Given the description of an element on the screen output the (x, y) to click on. 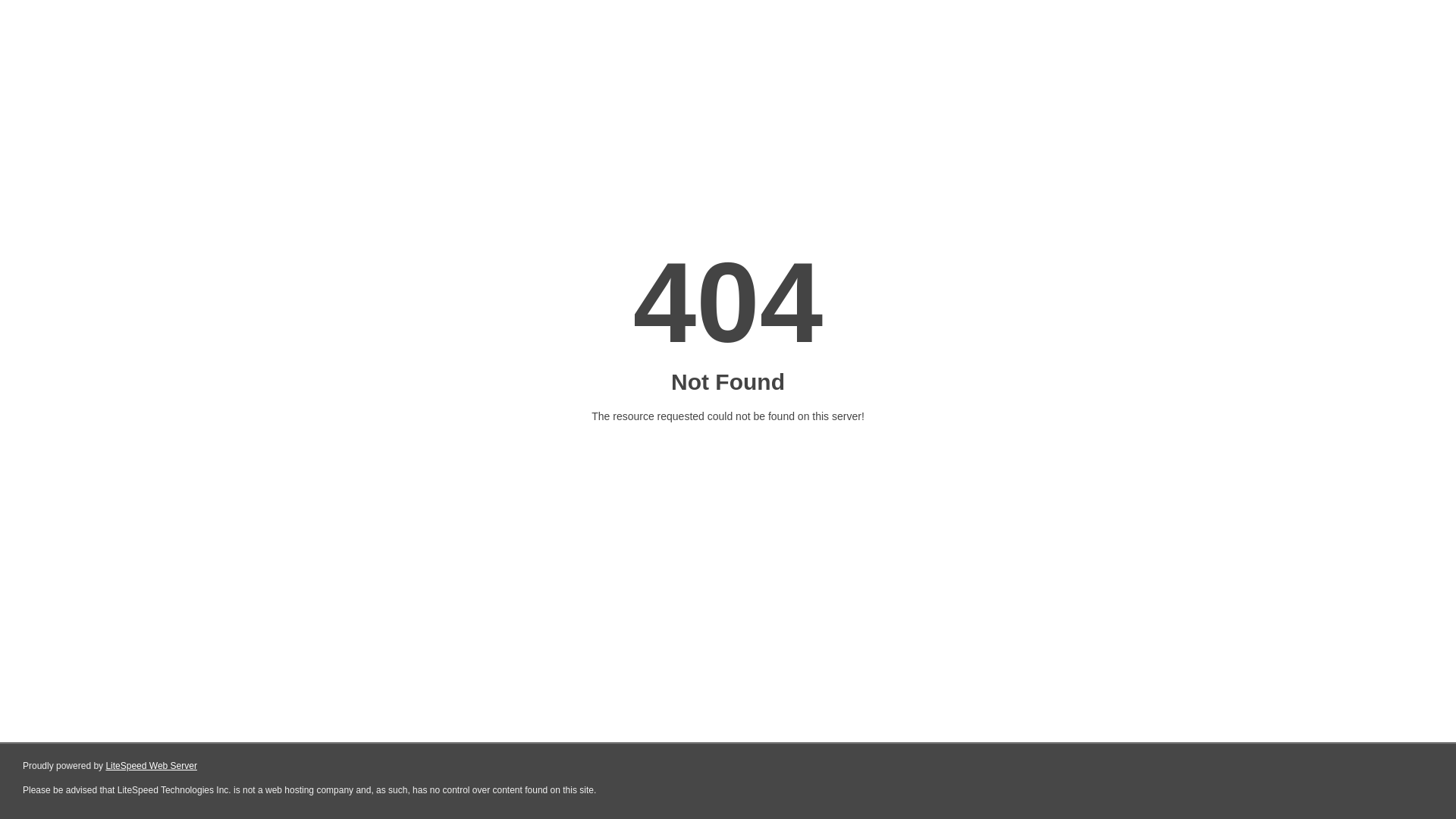
LiteSpeed Web Server (150, 765)
